Given the description of an element on the screen output the (x, y) to click on. 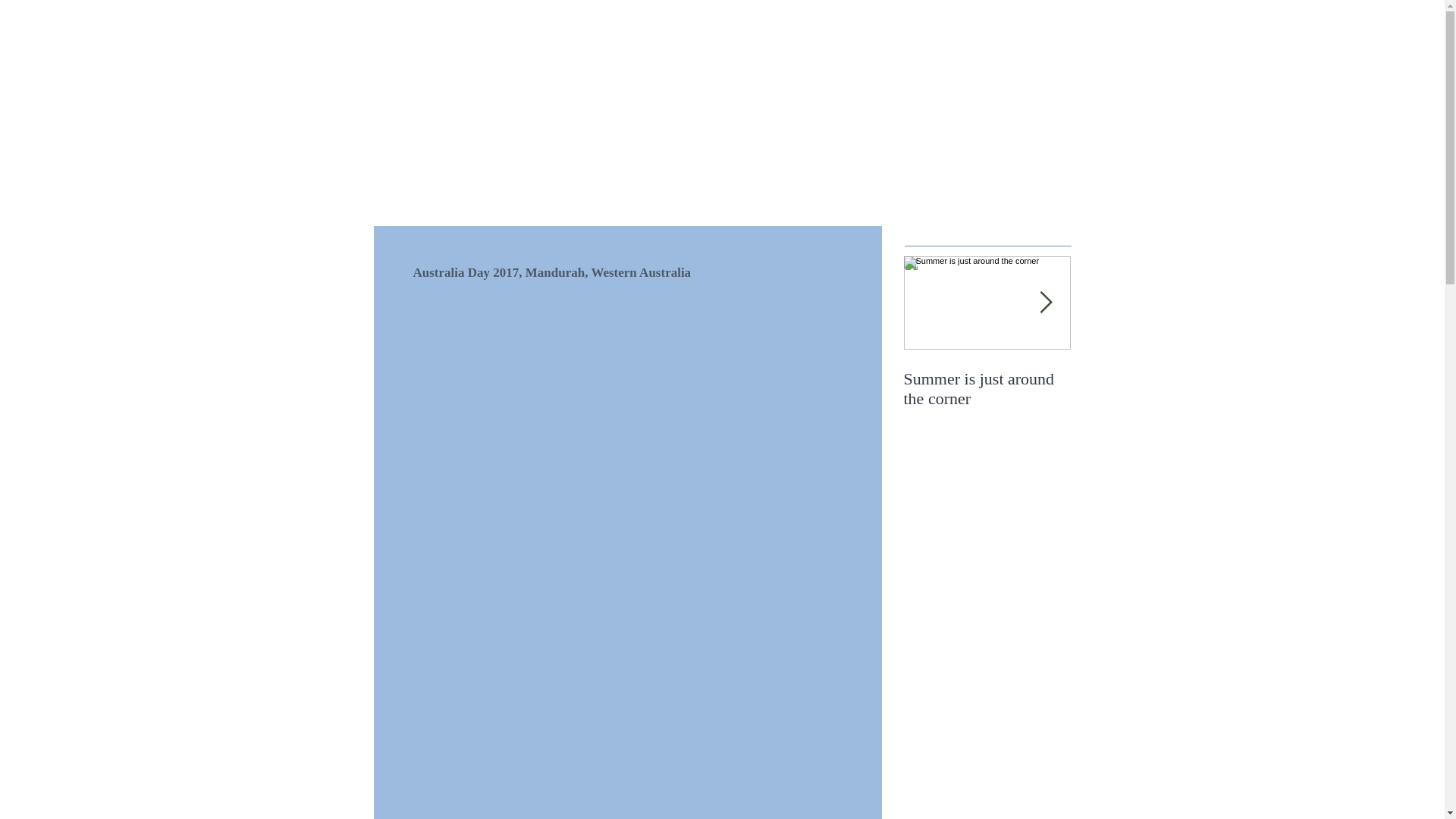
Australia Day 2017, Mandurah, Western Australia Element type: text (1153, 398)
Summer is just around the corner Element type: text (986, 388)
Australia Day in Mandurah Element type: text (1320, 388)
